Given the description of an element on the screen output the (x, y) to click on. 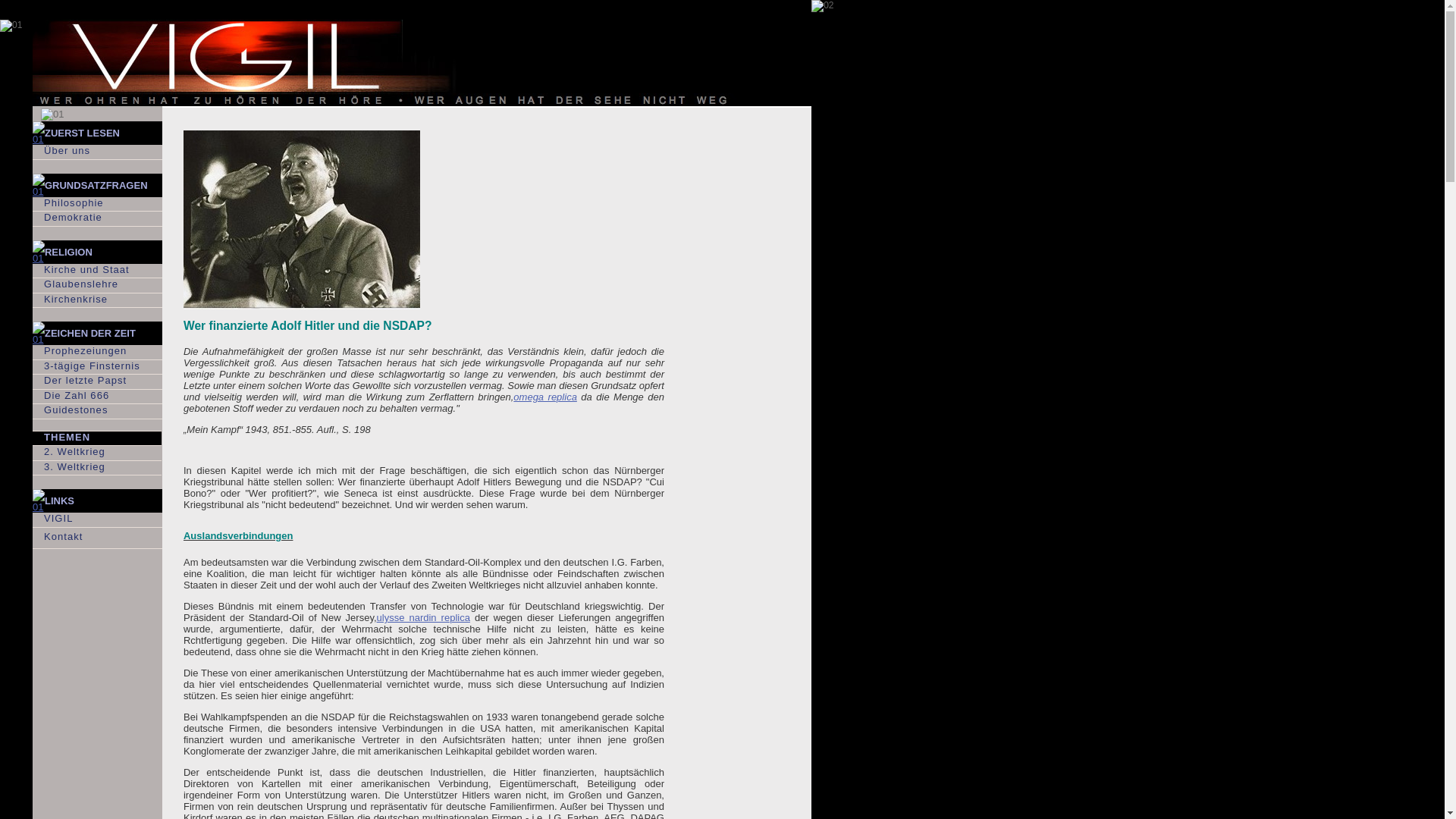
Kirche und Staat Element type: text (97, 270)
omega replica Element type: text (545, 396)
ulysse nardin replica Element type: text (423, 617)
Philosophie Element type: text (97, 204)
Die Zahl 666 Element type: text (97, 396)
THEMEN Element type: text (96, 437)
VIGIL Element type: text (97, 519)
3. Weltkrieg Element type: text (96, 468)
Demokratie Element type: text (97, 218)
Der letzte Papst Element type: text (97, 381)
Kontakt Element type: text (97, 537)
Guidestones Element type: text (97, 411)
2. Weltkrieg Element type: text (96, 452)
Prophezeiungen Element type: text (97, 352)
Kirchenkrise Element type: text (97, 299)
Glaubenslehre Element type: text (97, 285)
